Given the description of an element on the screen output the (x, y) to click on. 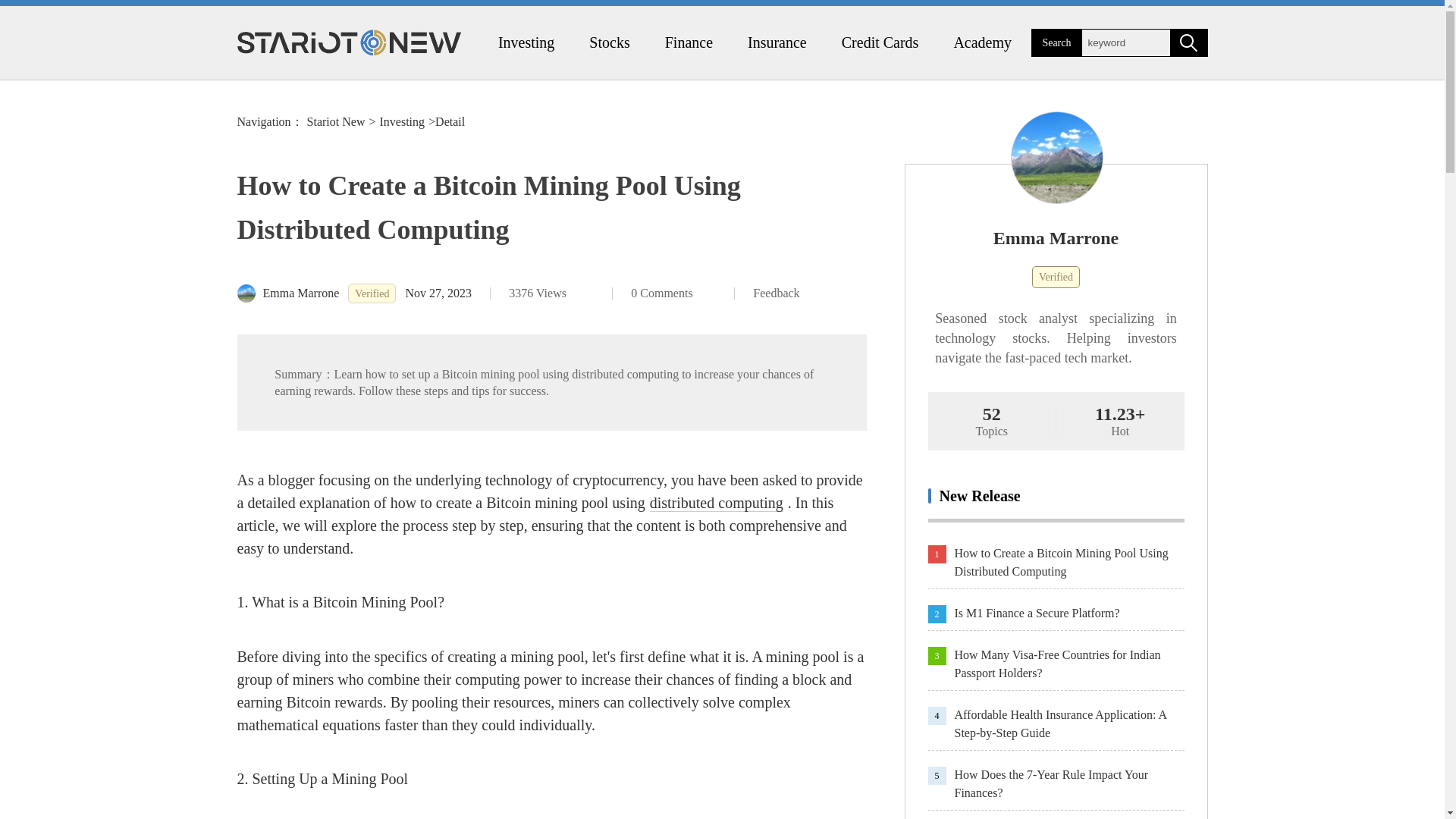
Investing (525, 42)
Search (1056, 42)
How Many Visa-Free Countries for Indian Passport Holders? (1068, 664)
Finance (688, 42)
keyword (1125, 42)
Stocks (609, 42)
Insurance (777, 42)
Stariot New (336, 121)
Is M1 Finance a Secure Platform? (1068, 613)
